Given the description of an element on the screen output the (x, y) to click on. 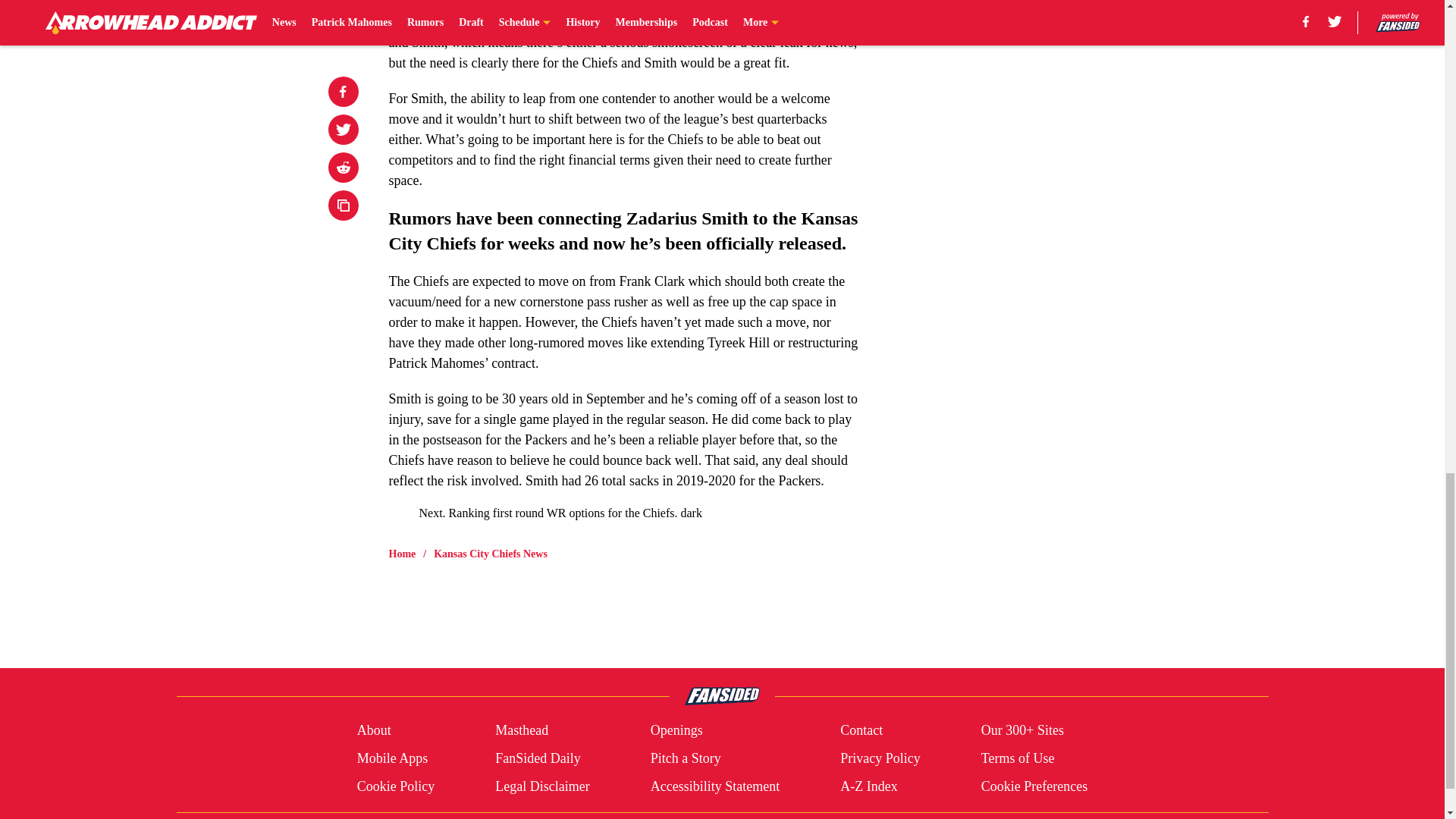
Kansas City Chiefs News (490, 554)
Mobile Apps (392, 758)
About (373, 730)
Contact (861, 730)
Home (401, 554)
Masthead (521, 730)
Privacy Policy (880, 758)
FanSided Daily (537, 758)
Openings (676, 730)
Pitch a Story (685, 758)
